Given the description of an element on the screen output the (x, y) to click on. 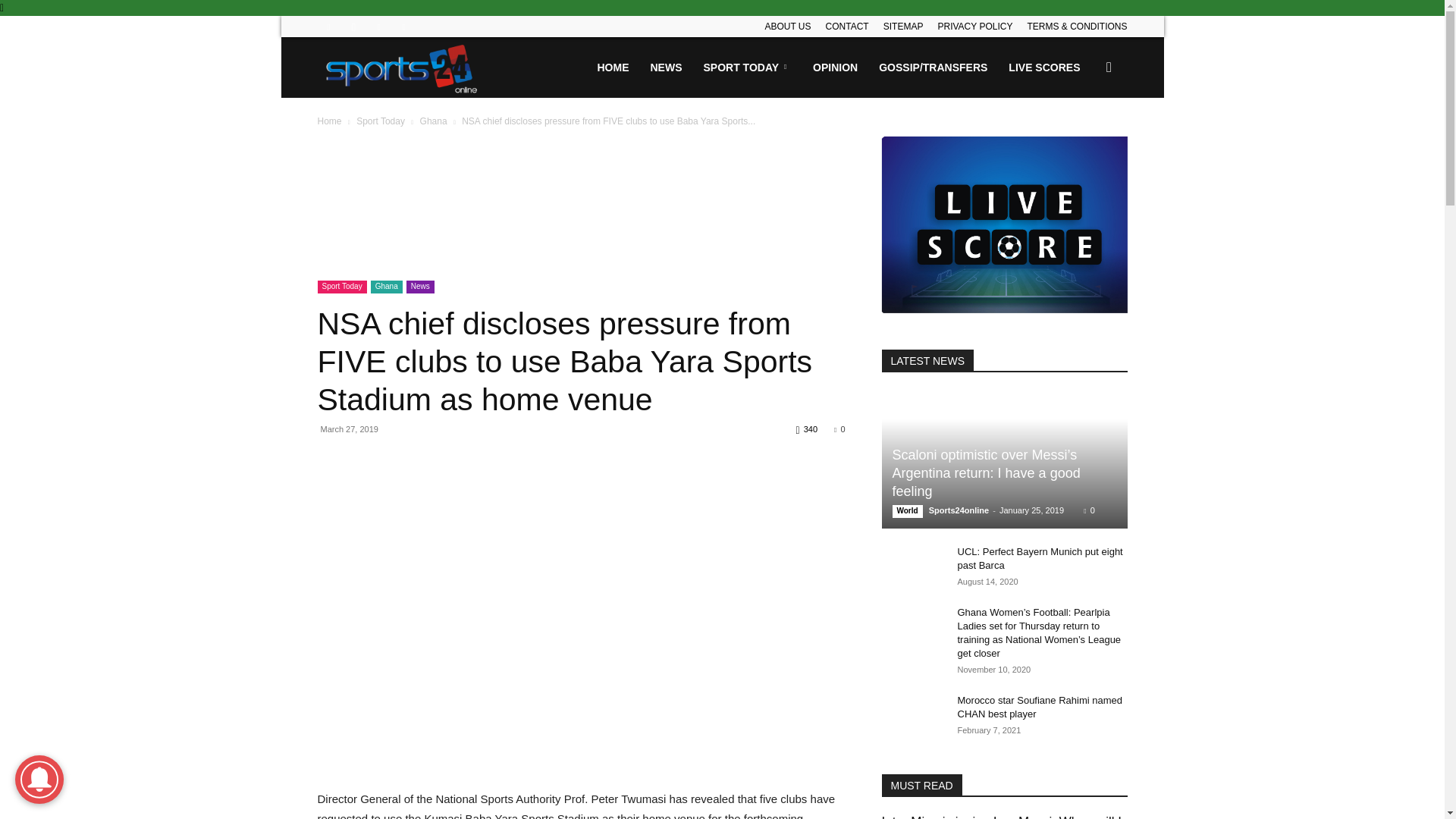
SITEMAP (903, 26)
Youtube (403, 25)
SPORT TODAY (748, 66)
PRIVACY POLICY (974, 26)
Facebook (328, 25)
CONTACT (847, 26)
Sports24online (401, 67)
Instagram (353, 25)
Twitter (379, 25)
ABOUT US (787, 26)
